Given the description of an element on the screen output the (x, y) to click on. 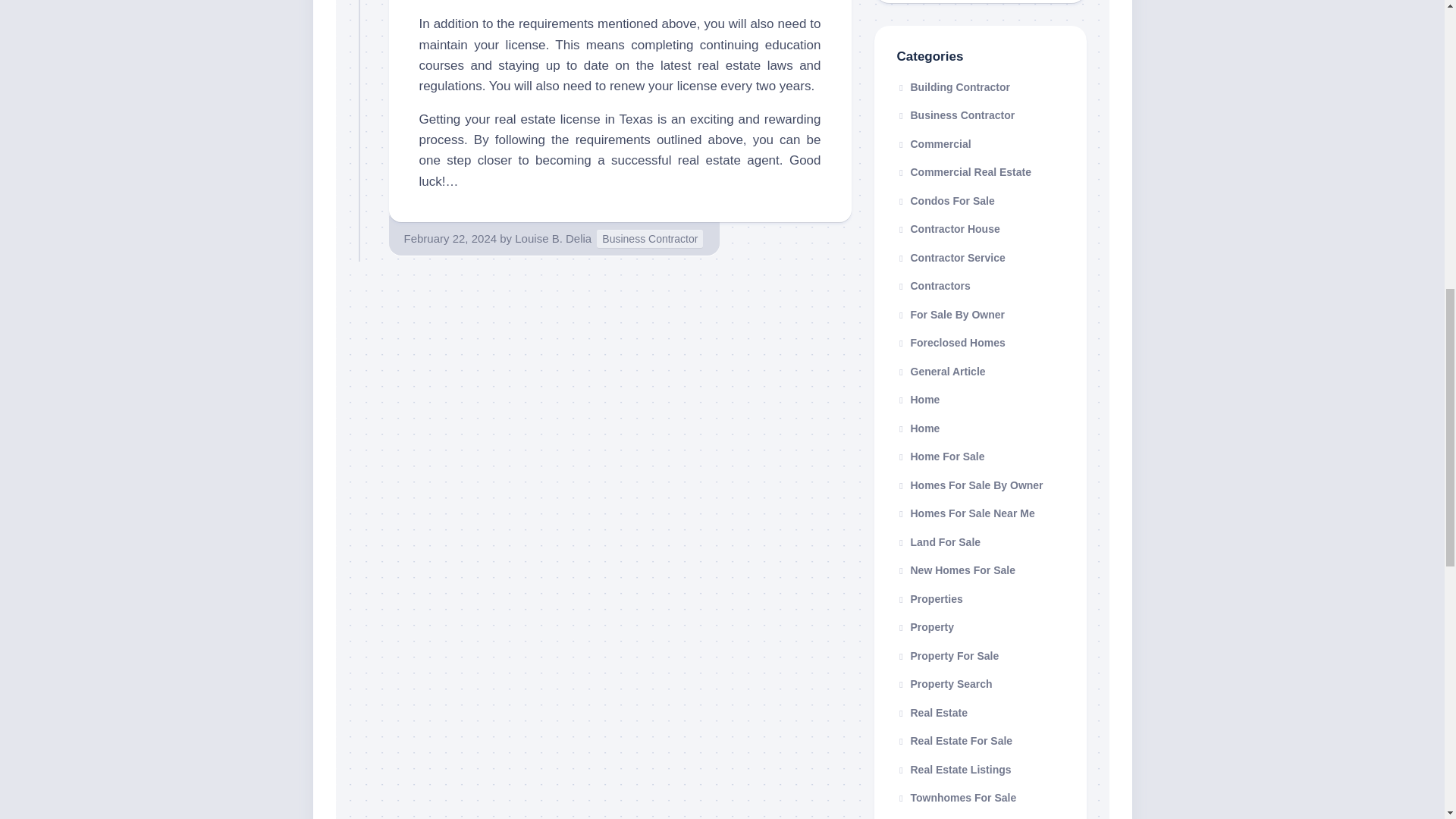
Business Contractor (649, 239)
Posts by Louise B. Delia (553, 237)
Louise B. Delia (553, 237)
